Given the description of an element on the screen output the (x, y) to click on. 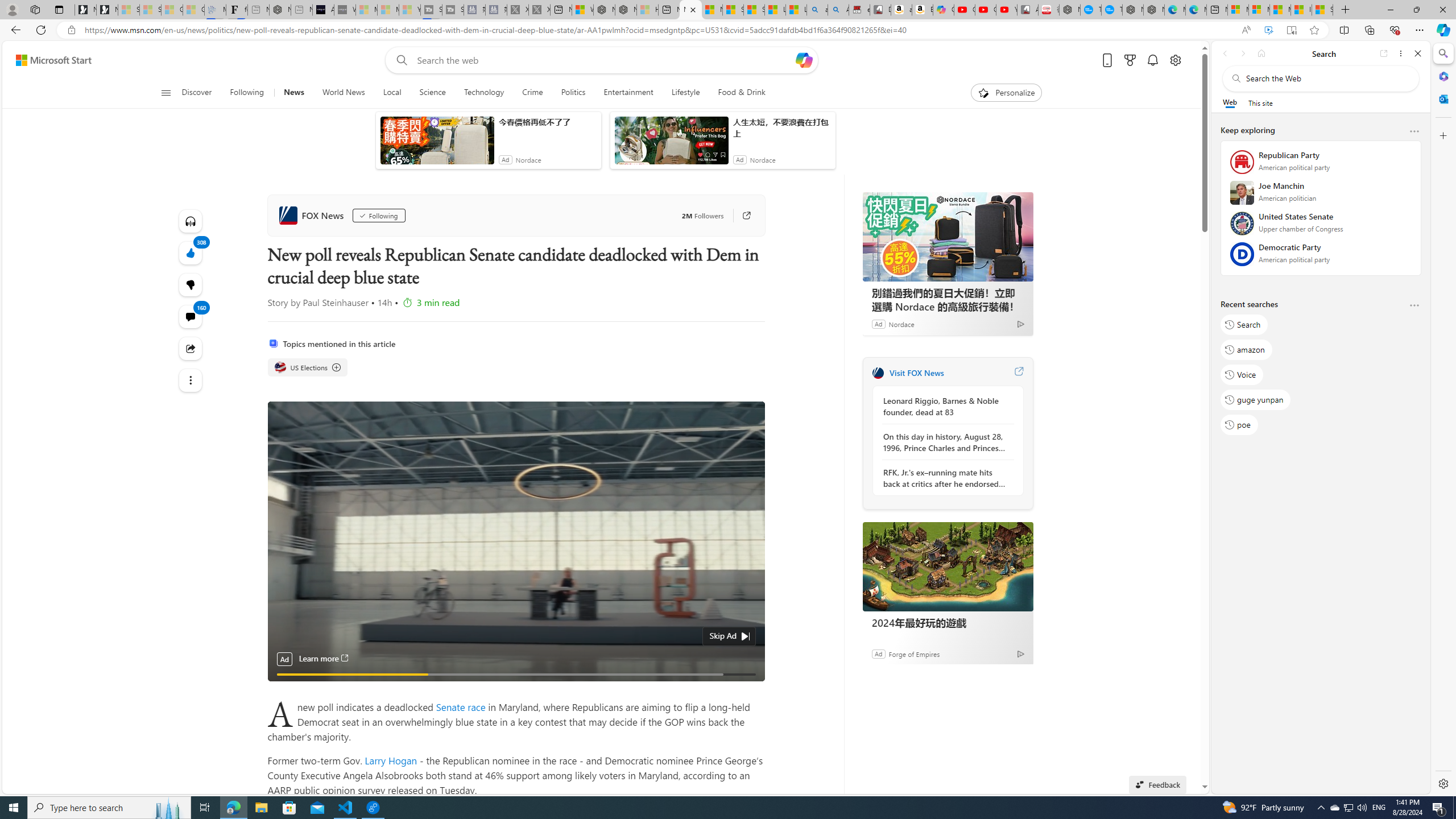
Share this story (190, 348)
Notifications (1152, 60)
Listen to this article (190, 220)
Open navigation menu (164, 92)
anim-content (671, 144)
Personalize (1006, 92)
World News (343, 92)
Technology (483, 92)
Outlook (1442, 98)
